Given the description of an element on the screen output the (x, y) to click on. 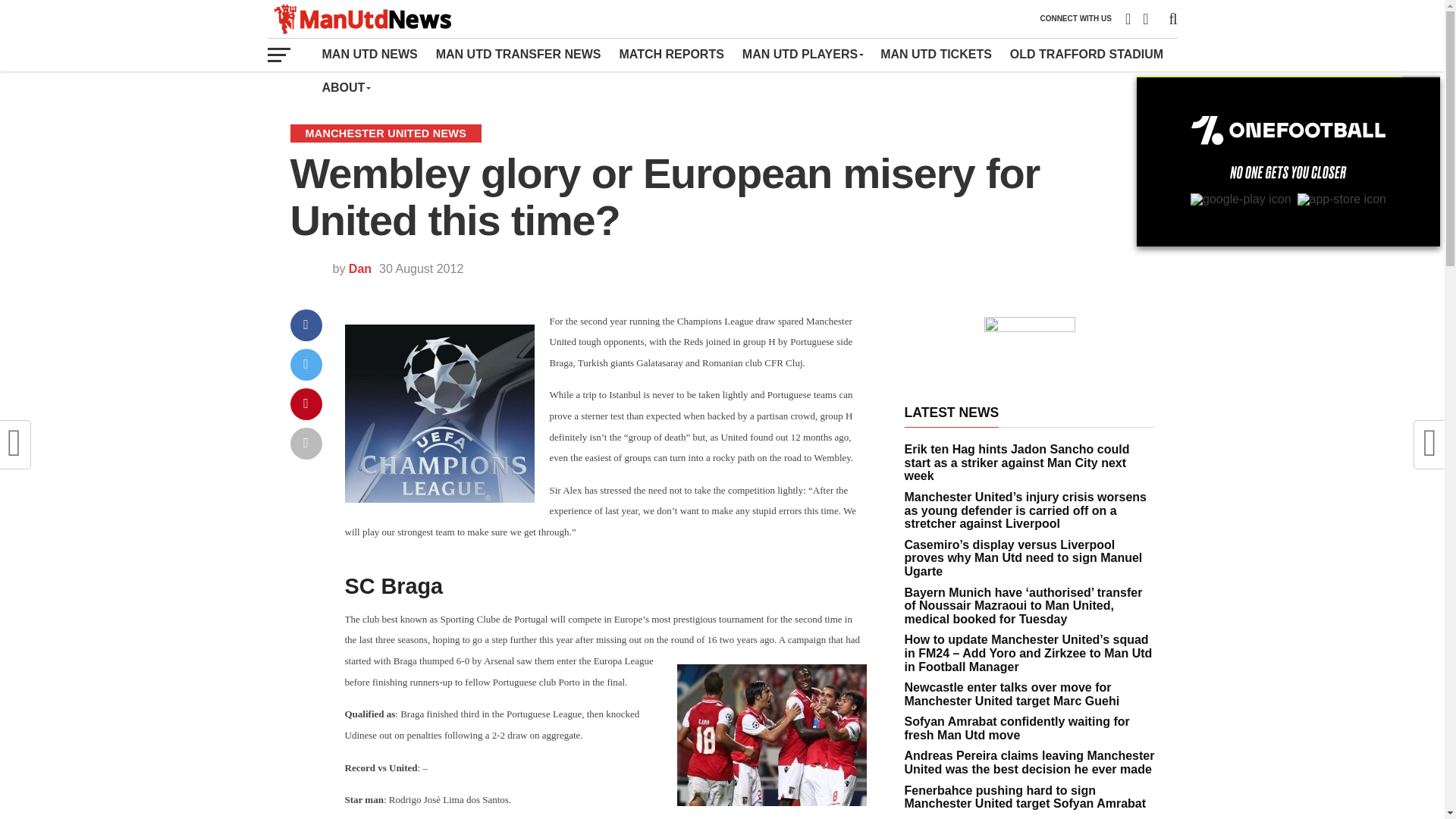
OLD TRAFFORD STADIUM (1086, 54)
MAN UTD TICKETS (935, 54)
Dan (360, 268)
MAN UTD NEWS (369, 54)
braga (771, 734)
Posts by Dan (360, 268)
MATCH REPORTS (671, 54)
MAN UTD TRANSFER NEWS (518, 54)
cl logo (438, 413)
ABOUT (345, 87)
